Given the description of an element on the screen output the (x, y) to click on. 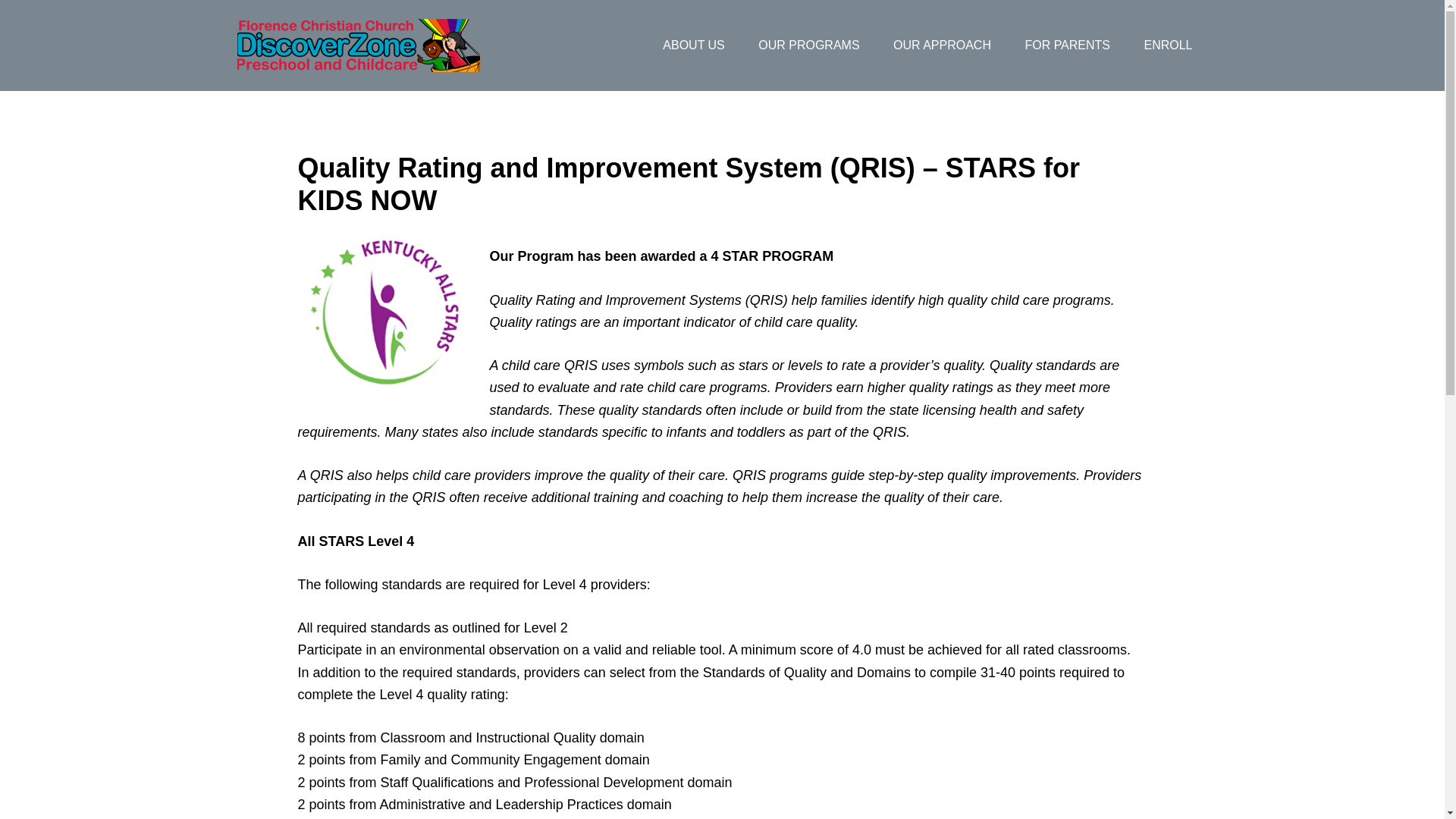
OUR PROGRAMS (808, 45)
The Discover Zone (357, 45)
FOR PARENTS (1067, 45)
OUR APPROACH (941, 45)
ABOUT US (693, 45)
